Given the description of an element on the screen output the (x, y) to click on. 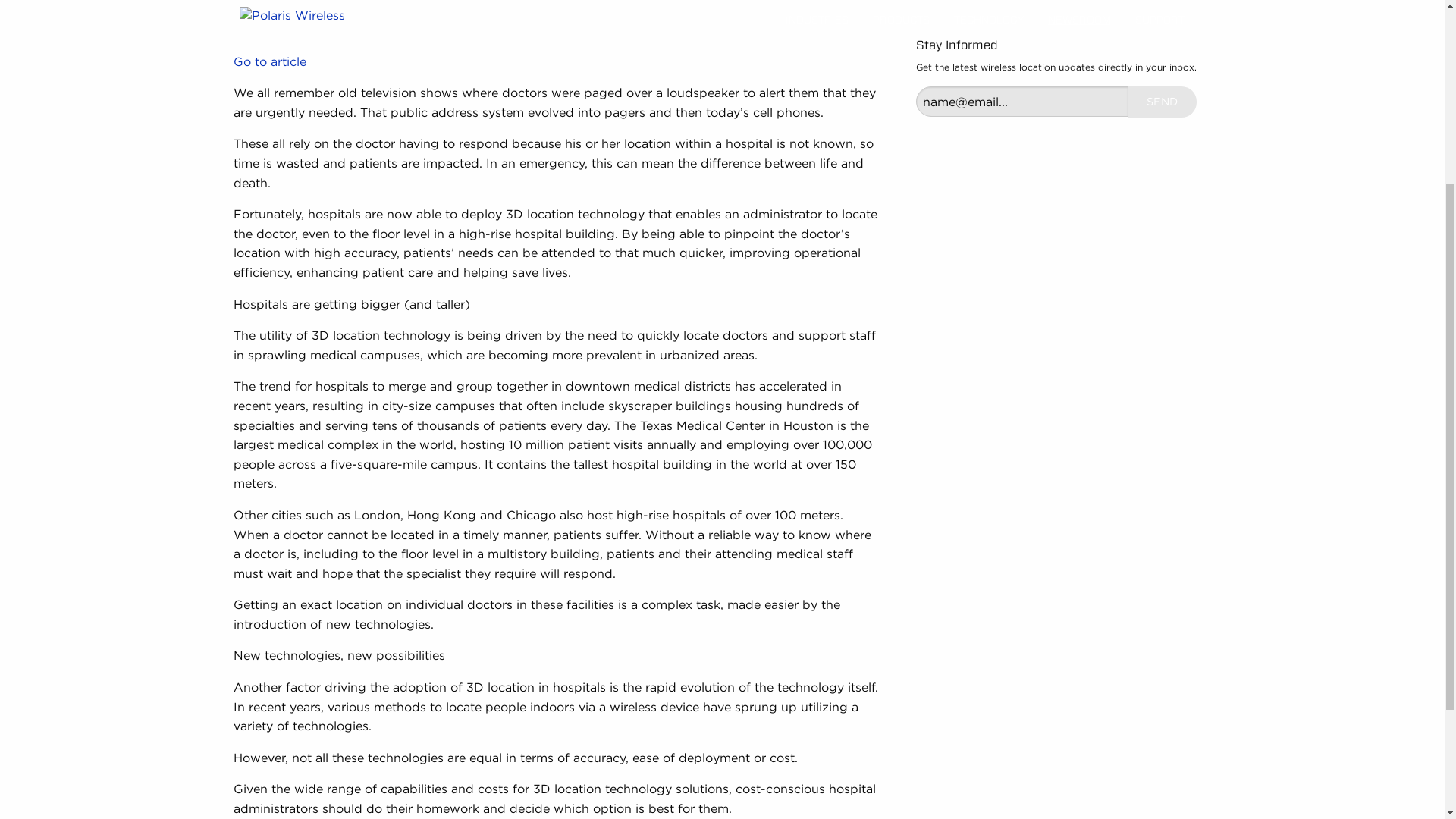
Go to article (268, 61)
Send (1161, 101)
Send (1161, 101)
